Given the description of an element on the screen output the (x, y) to click on. 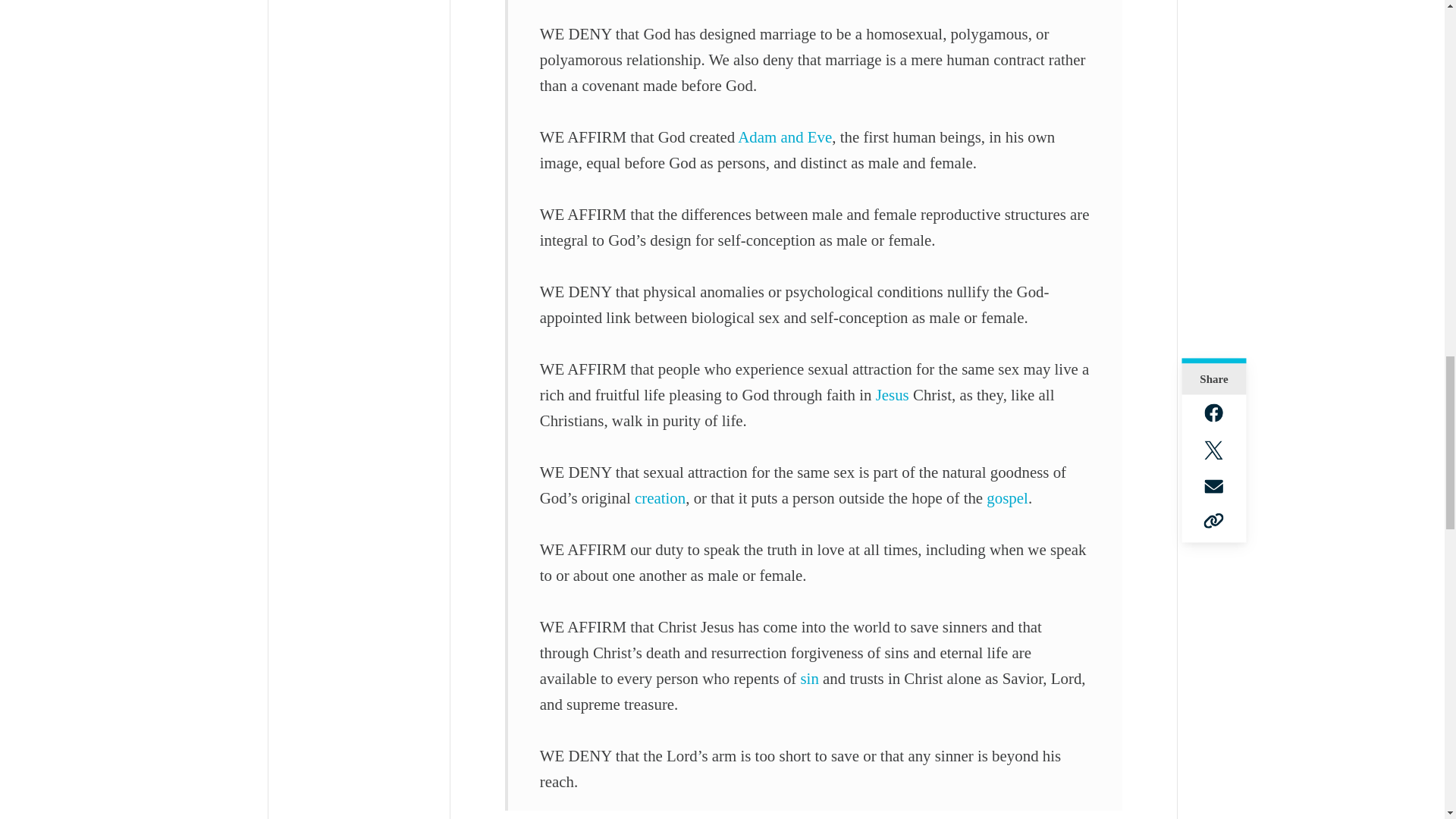
Adam and Eve (784, 136)
creation (659, 497)
Jesus (892, 394)
